Given the description of an element on the screen output the (x, y) to click on. 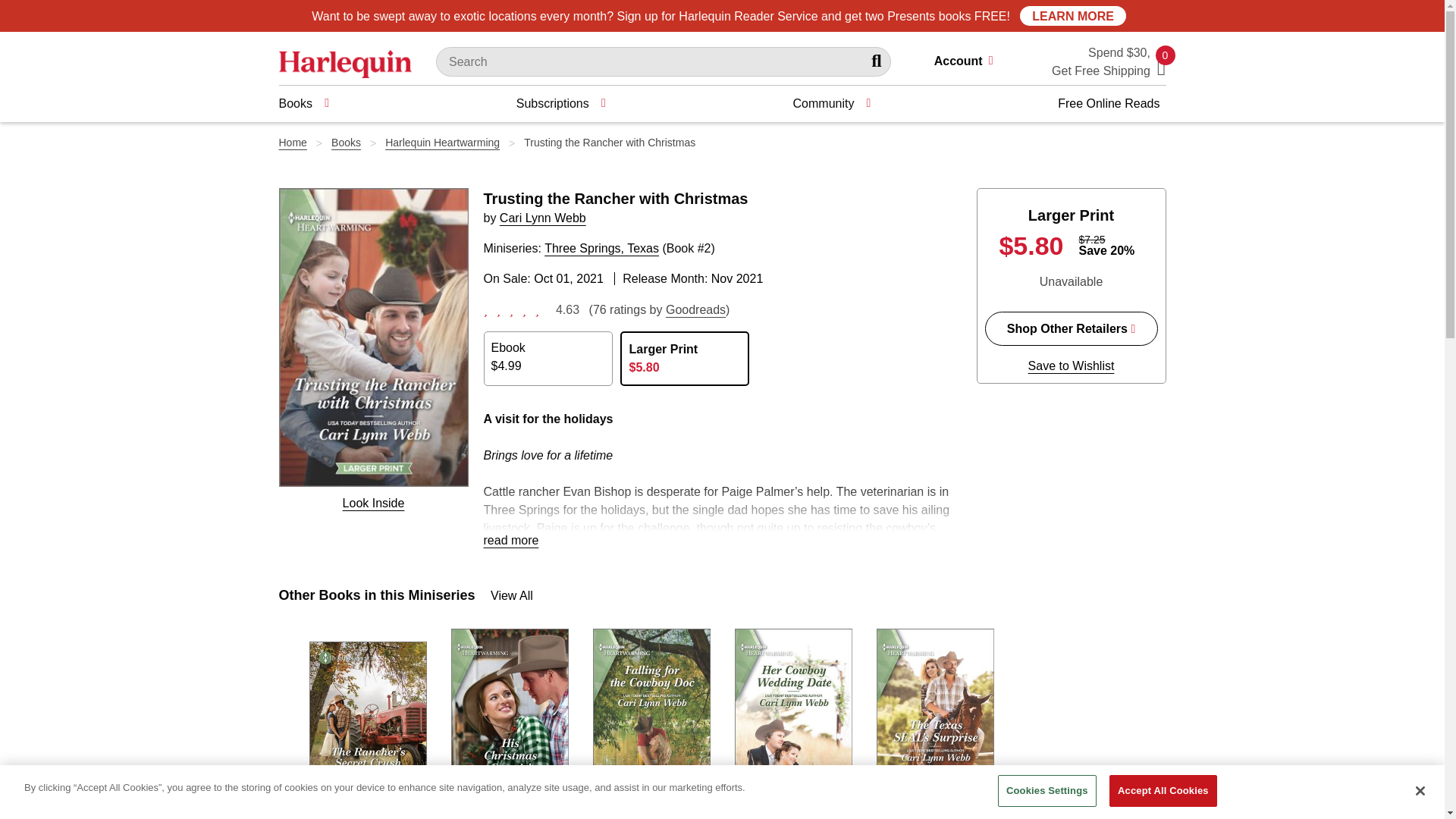
View your cart (1161, 66)
Account (970, 62)
LEARN MORE (1072, 15)
Books (304, 103)
Search Harlequin (877, 60)
See ratings and reviews (515, 308)
See all reviews on Goodreads (695, 309)
Search for other content by Cari Lynn Webb (1161, 66)
Harlequin home (542, 217)
